Given the description of an element on the screen output the (x, y) to click on. 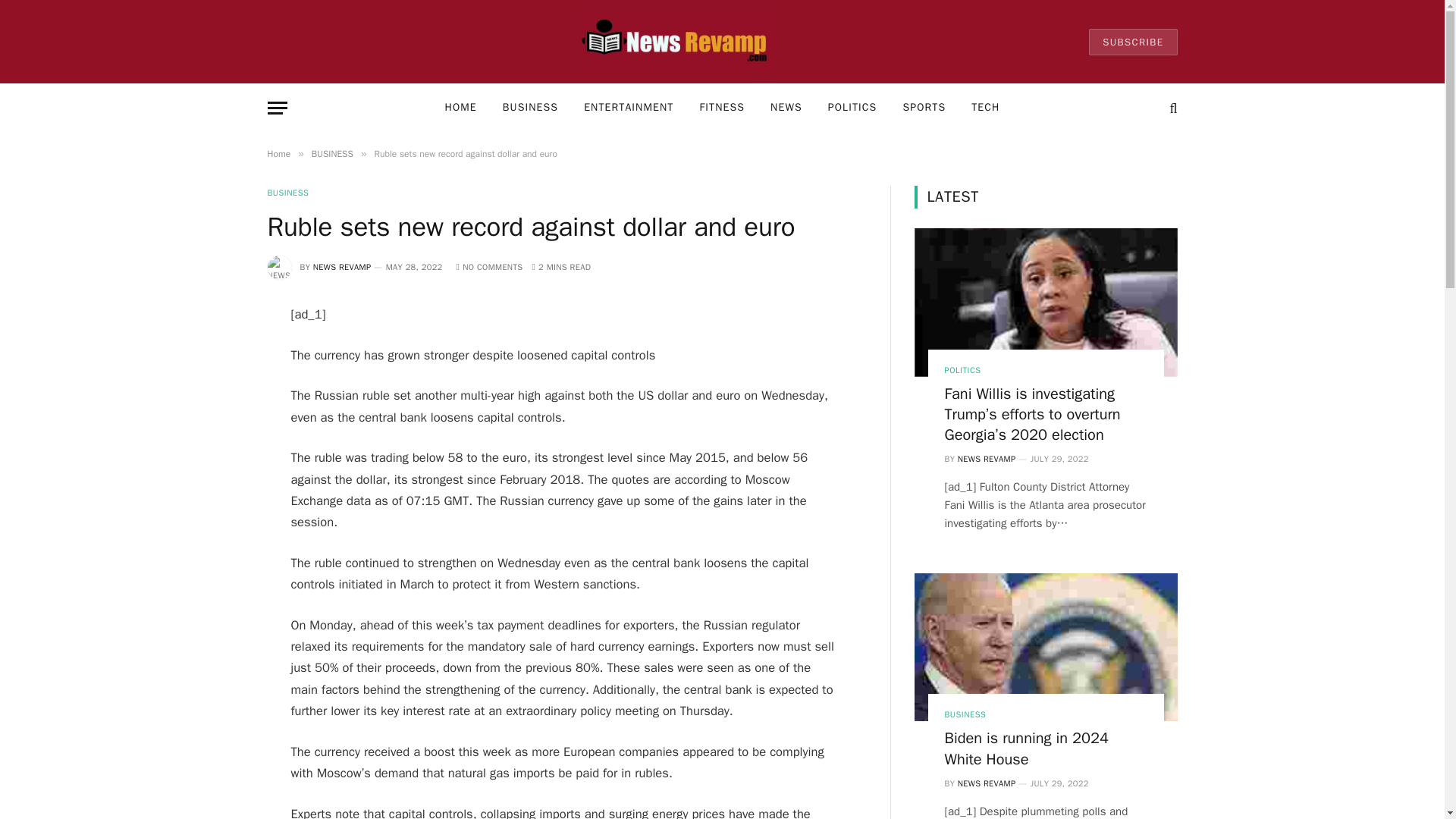
NEWS (786, 107)
BUSINESS (287, 192)
BUSINESS (529, 107)
NEWS REVAMP (342, 266)
HOME (460, 107)
SUBSCRIBE (1132, 41)
FITNESS (721, 107)
ENTERTAINMENT (627, 107)
Posts by News Revamp (342, 266)
NO COMMENTS (489, 266)
